Given the description of an element on the screen output the (x, y) to click on. 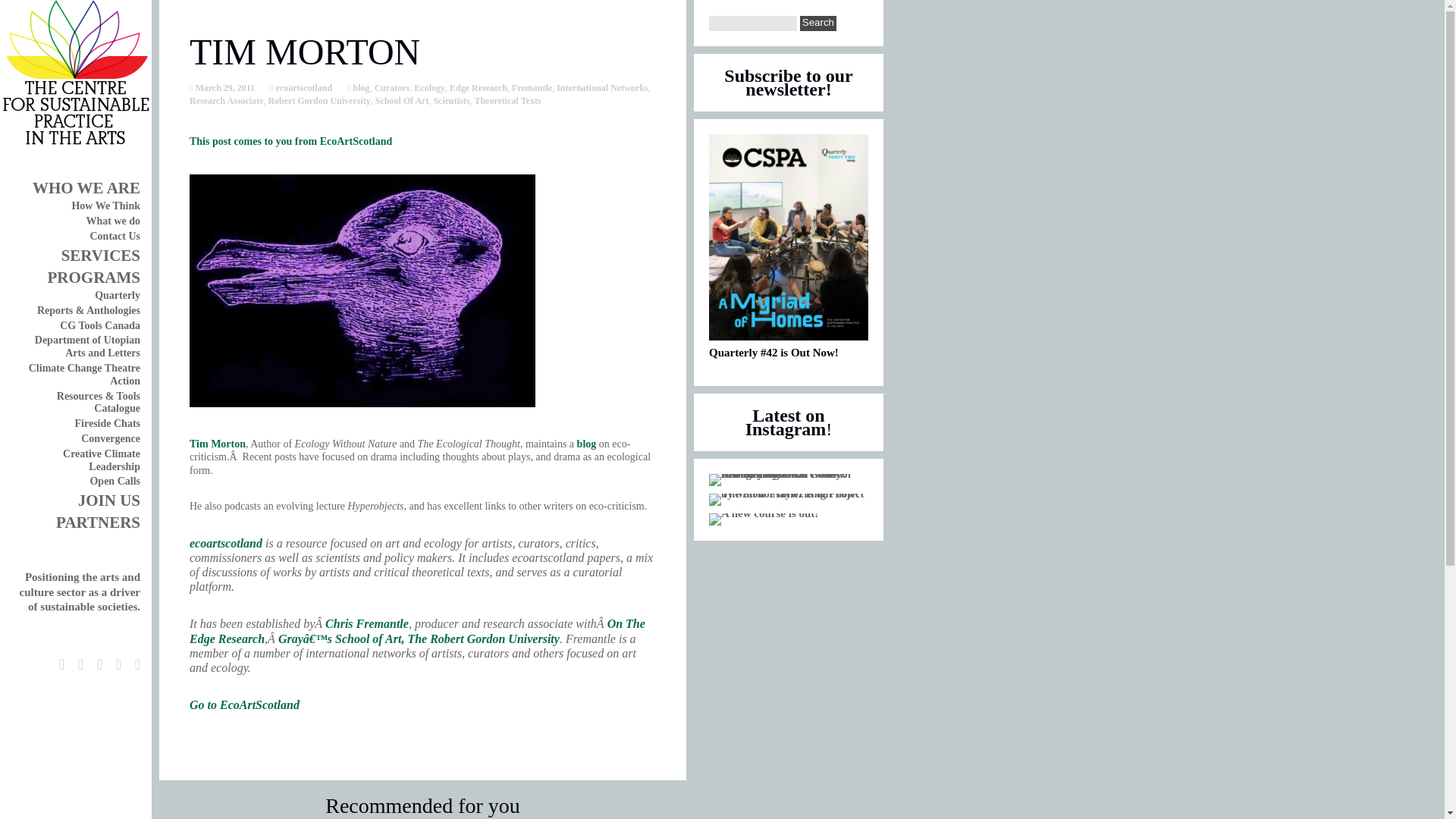
Creative Climate Leadership (100, 459)
Fireside Chats (107, 423)
PROGRAMS (92, 277)
CG Tools Canada (99, 325)
International Networks (601, 87)
March 29, 2011 (223, 87)
JOIN US (108, 500)
WHO WE ARE (85, 188)
Curators (392, 87)
Search (817, 23)
Convergence (110, 438)
Department of Utopian Arts and Letters (86, 346)
blog (359, 87)
ecoartscotland (303, 87)
